Given the description of an element on the screen output the (x, y) to click on. 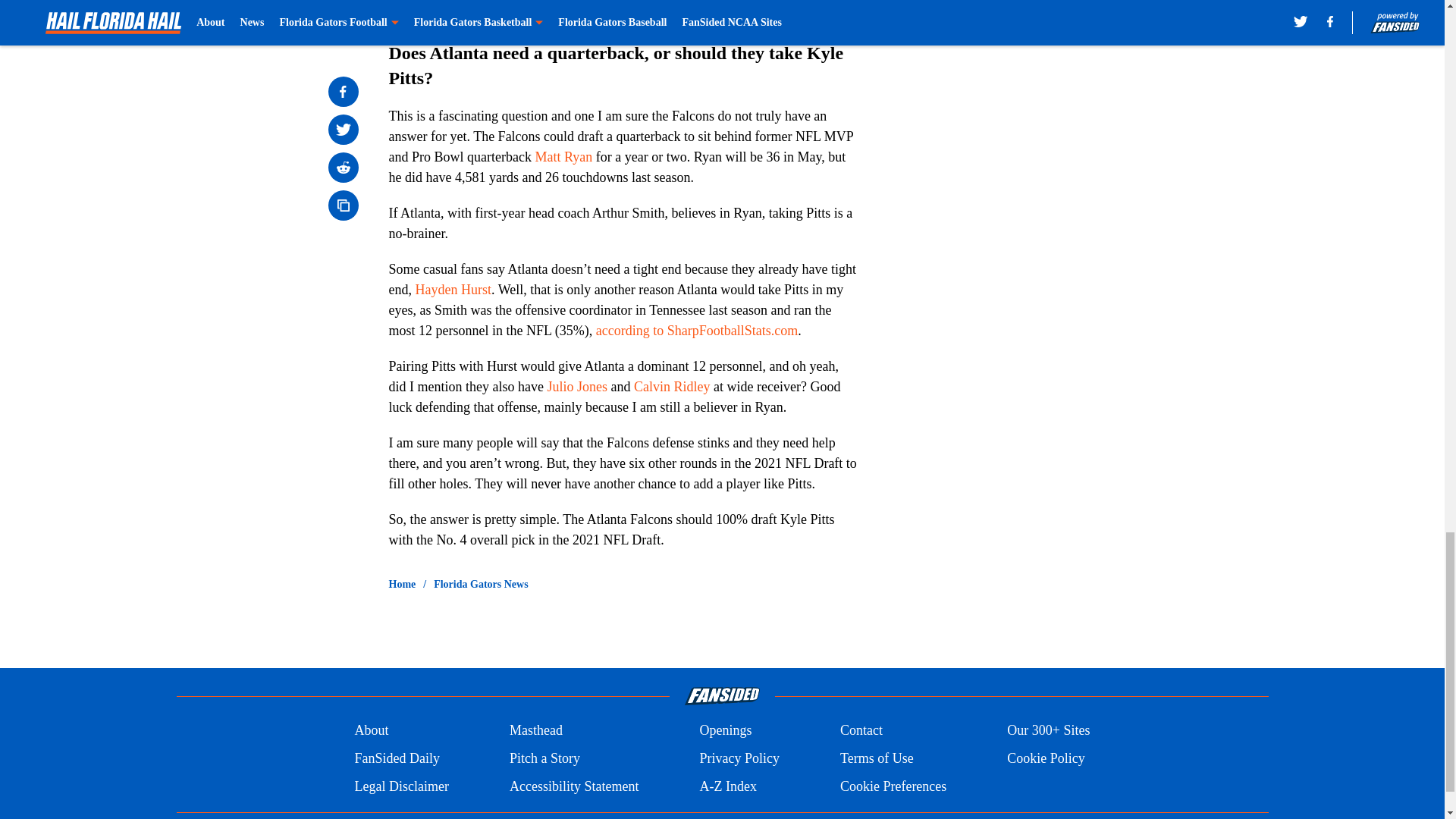
Matt Ryan (563, 156)
About (370, 730)
according to SharpFootballStats.com (696, 330)
Home (401, 584)
Calvin Ridley (671, 386)
Masthead (535, 730)
Contact (861, 730)
Julio Jones (577, 386)
Openings (724, 730)
Florida Gators News (480, 584)
